Given the description of an element on the screen output the (x, y) to click on. 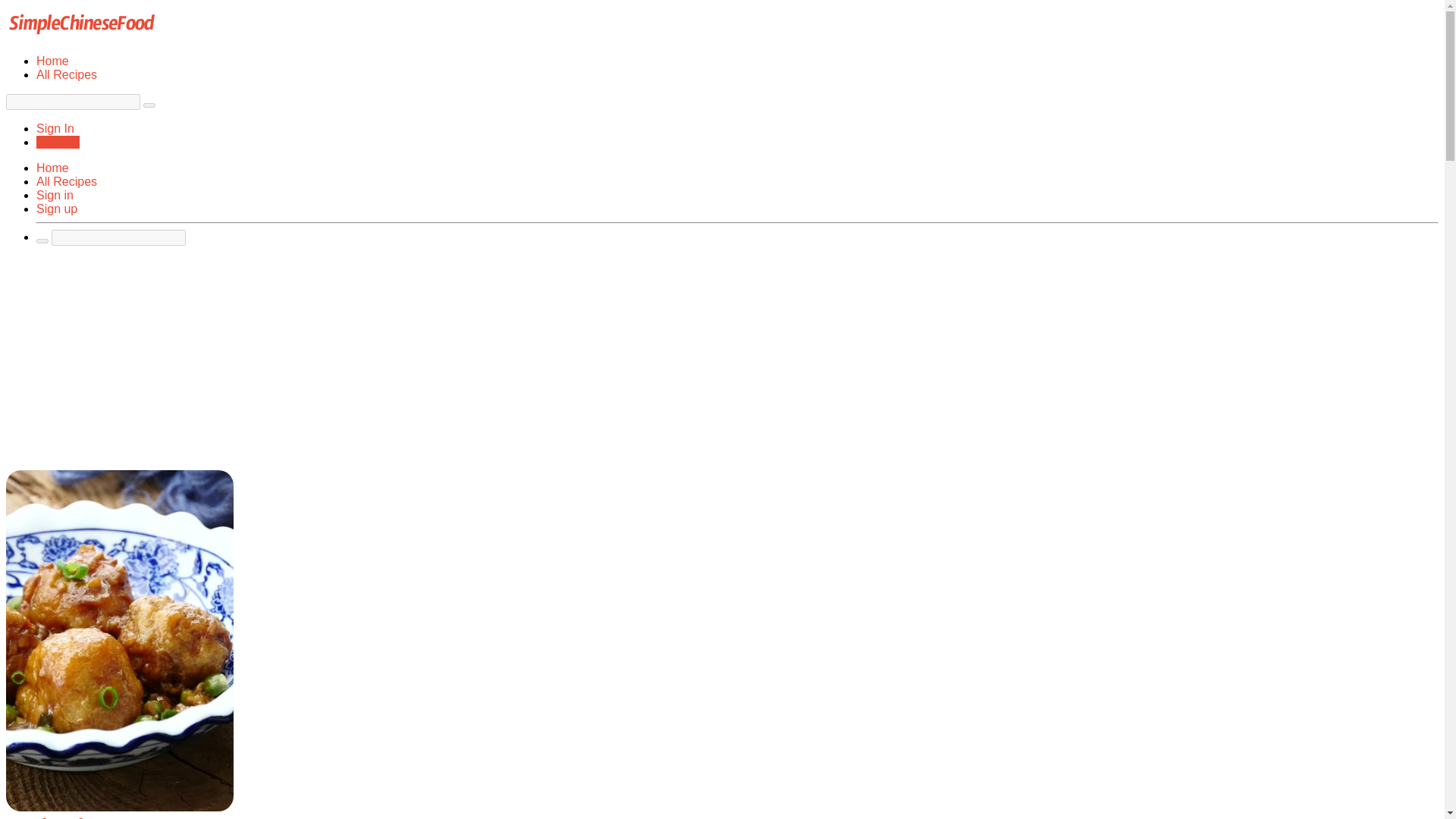
Home (52, 60)
Sign In (55, 128)
Sign Up (58, 141)
All Recipes (66, 74)
